Given the description of an element on the screen output the (x, y) to click on. 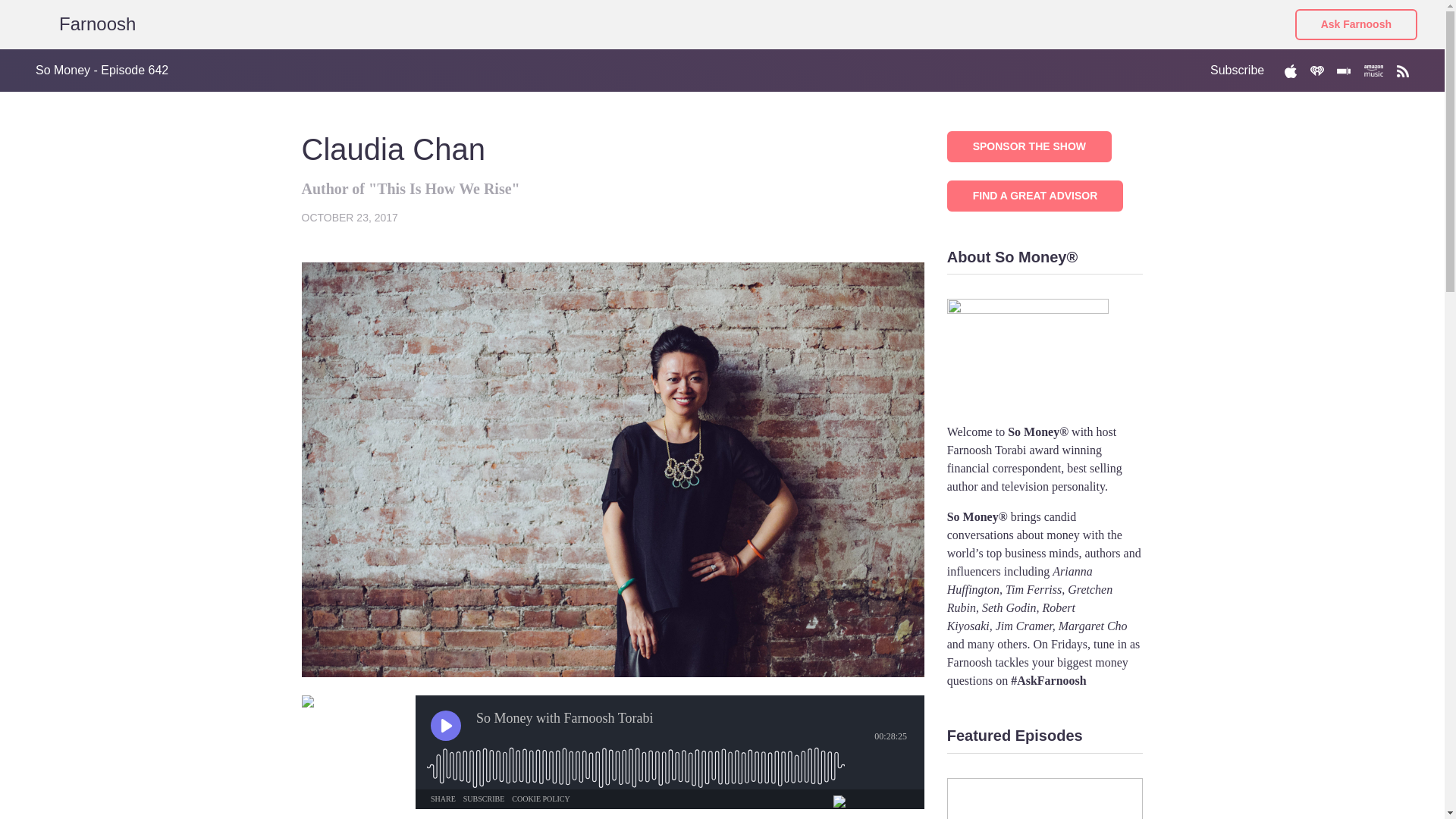
SPONSOR THE SHOW (1029, 146)
SPONSOR THE SHOW (1029, 144)
FIND A GREAT ADVISOR (1035, 194)
Ask Farnoosh (1355, 24)
FIND A GREAT ADVISOR (1035, 195)
